Given the description of an element on the screen output the (x, y) to click on. 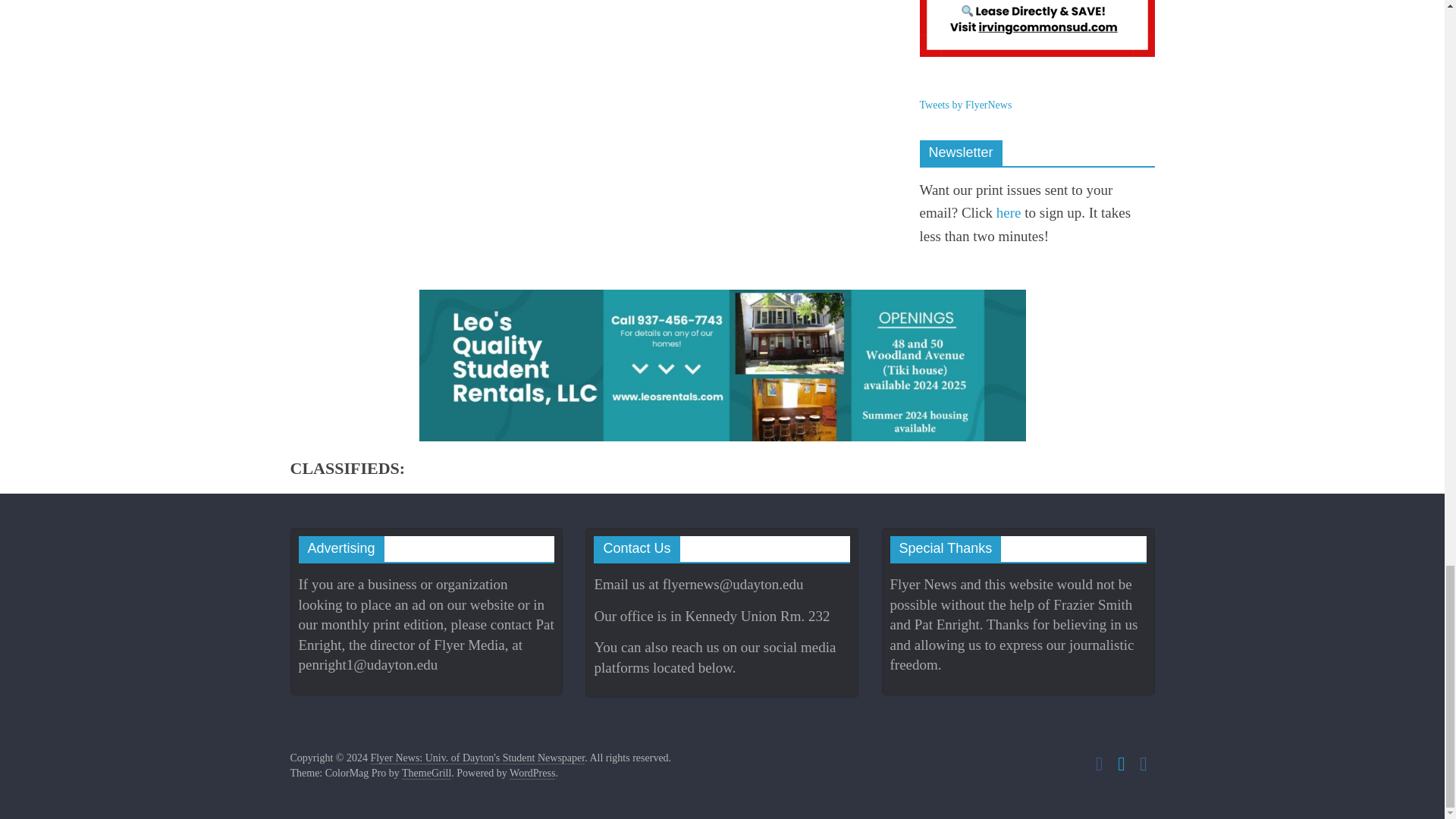
WordPress (531, 773)
Flyer News: Univ. of Dayton's Student Newspaper (477, 758)
ThemeGrill (426, 773)
